Given the description of an element on the screen output the (x, y) to click on. 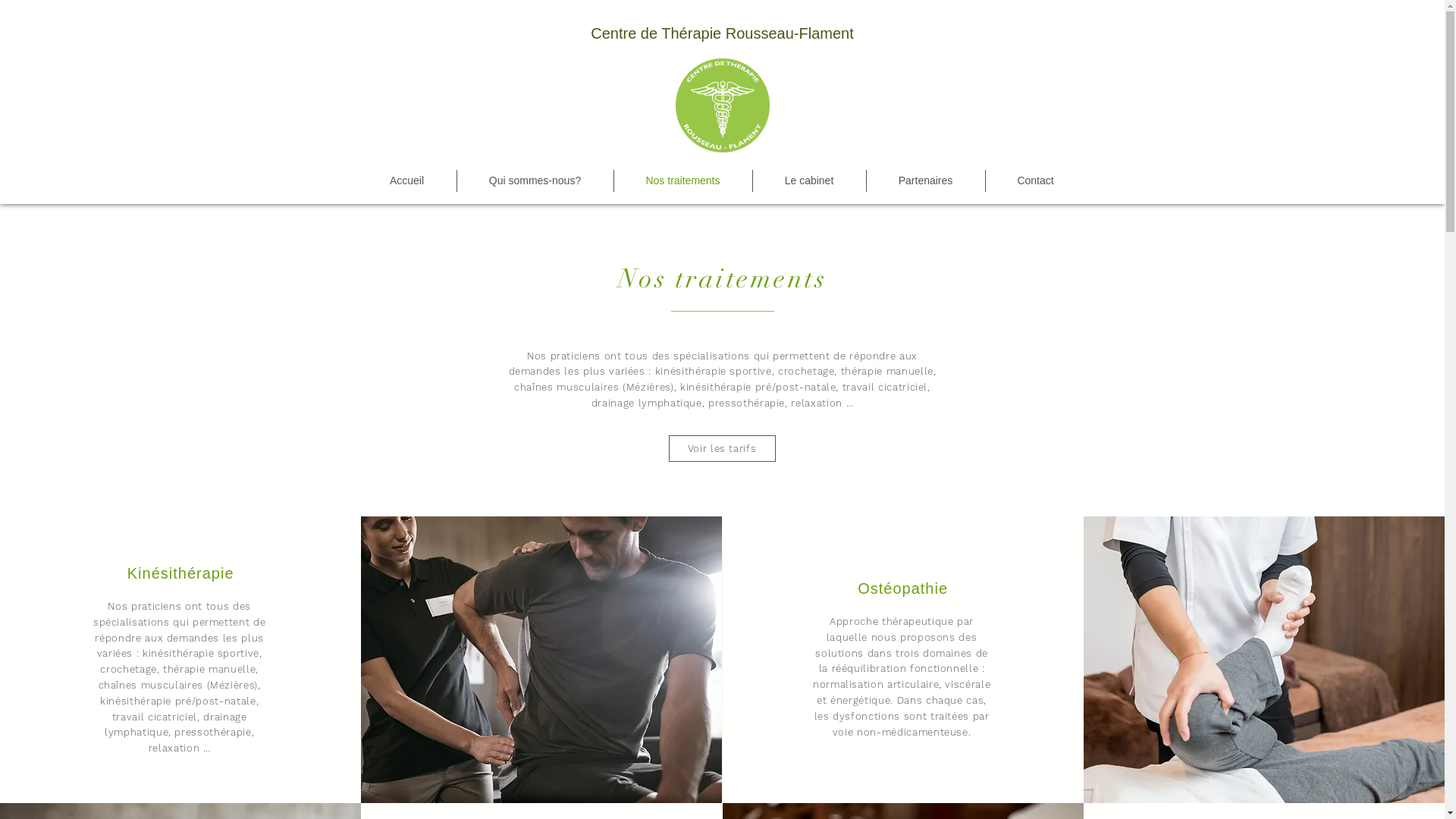
Le cabinet Element type: text (808, 180)
Partenaires Element type: text (925, 180)
Voir les tarifs Element type: text (721, 448)
Sticker+vitrine+Caduceus.png Element type: hover (721, 105)
Accueil Element type: text (406, 180)
Qui sommes-nous? Element type: text (534, 180)
Contact Element type: text (1035, 180)
Nos traitements Element type: text (683, 180)
